Given the description of an element on the screen output the (x, y) to click on. 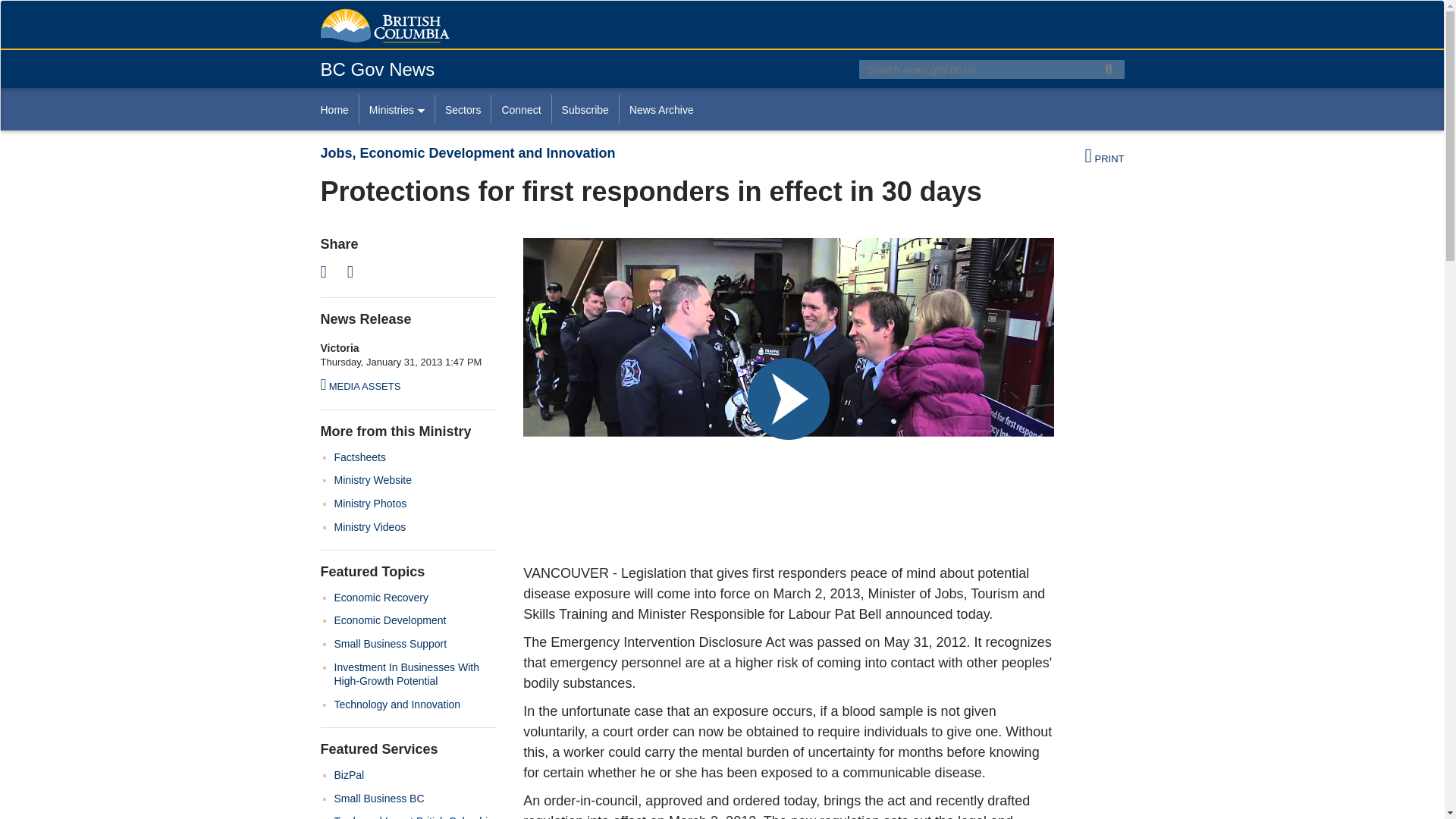
News Archive (660, 109)
BC Gov News (376, 68)
X (327, 271)
Government of B.C. (384, 25)
Home (339, 109)
Subscribe (584, 109)
Connect (520, 109)
Ministries (395, 109)
Email (354, 271)
Sectors (461, 109)
